Given the description of an element on the screen output the (x, y) to click on. 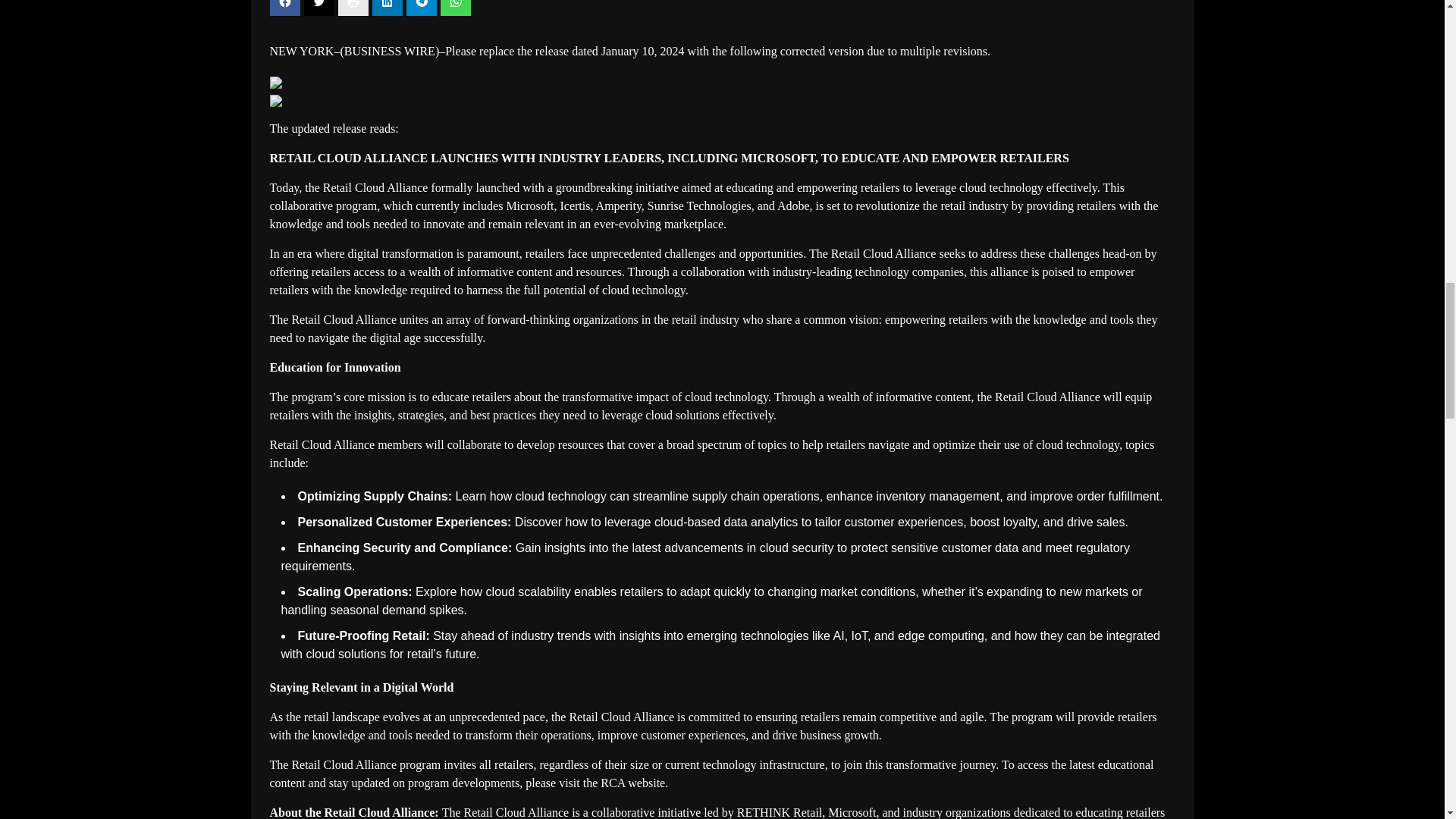
Click to share on LinkedIn (386, 7)
Click to print (352, 7)
Click to share on Telegram (421, 7)
Click to share on Twitter (317, 7)
Click to share on WhatsApp (454, 7)
Click to share on Facebook (284, 7)
